Given the description of an element on the screen output the (x, y) to click on. 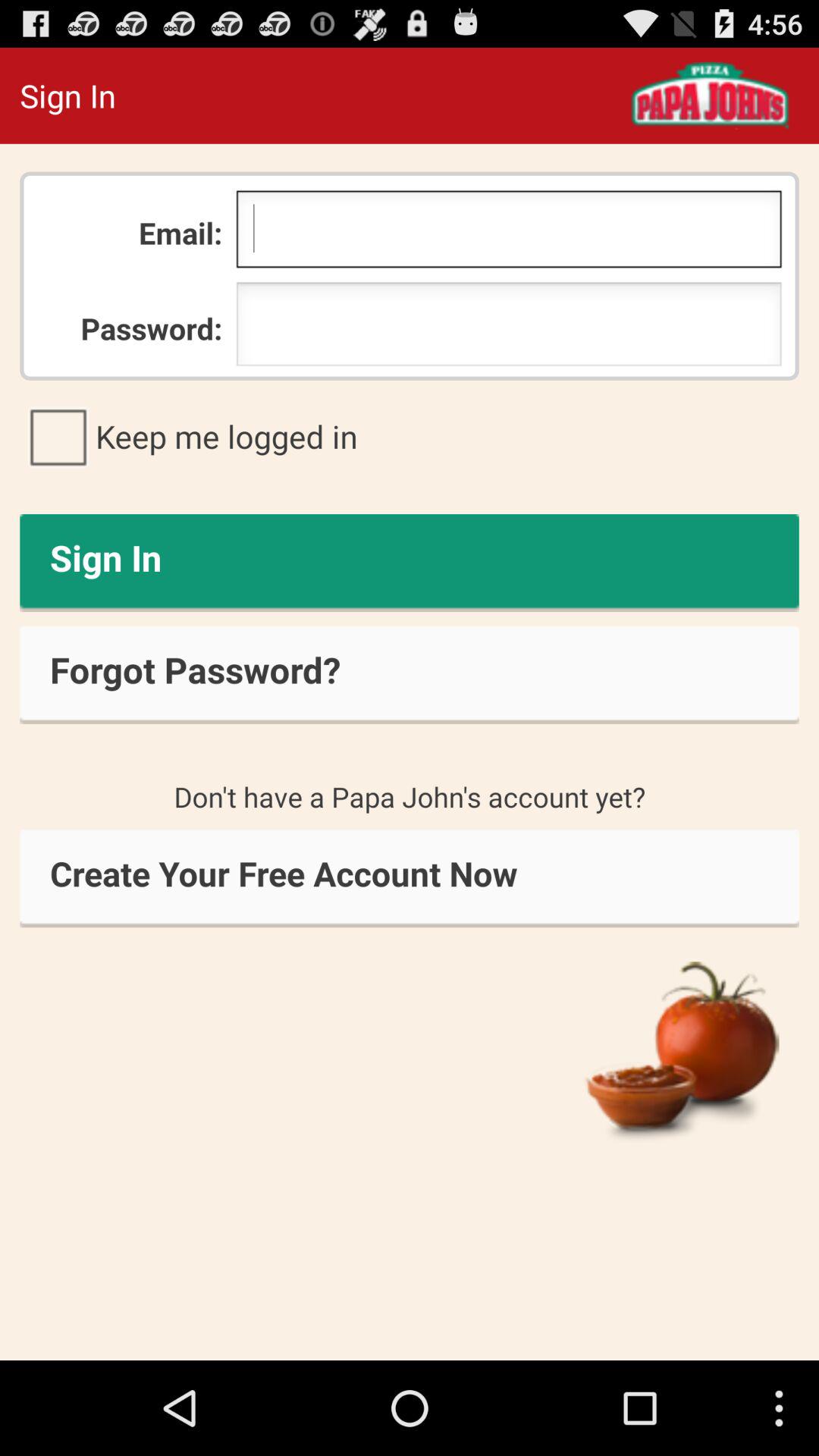
type email (508, 232)
